Given the description of an element on the screen output the (x, y) to click on. 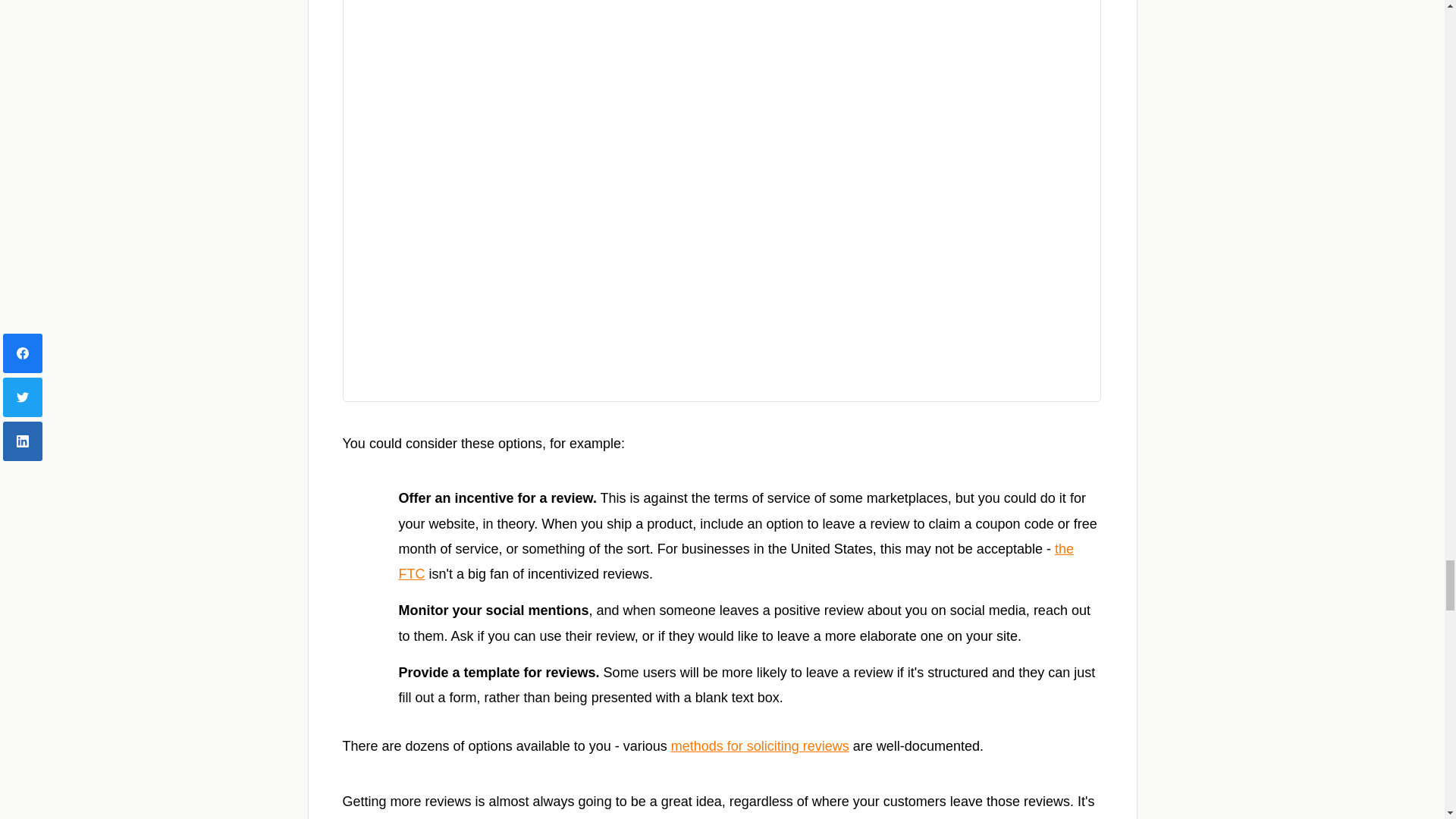
the FTC (736, 561)
methods for soliciting reviews (759, 745)
